Given the description of an element on the screen output the (x, y) to click on. 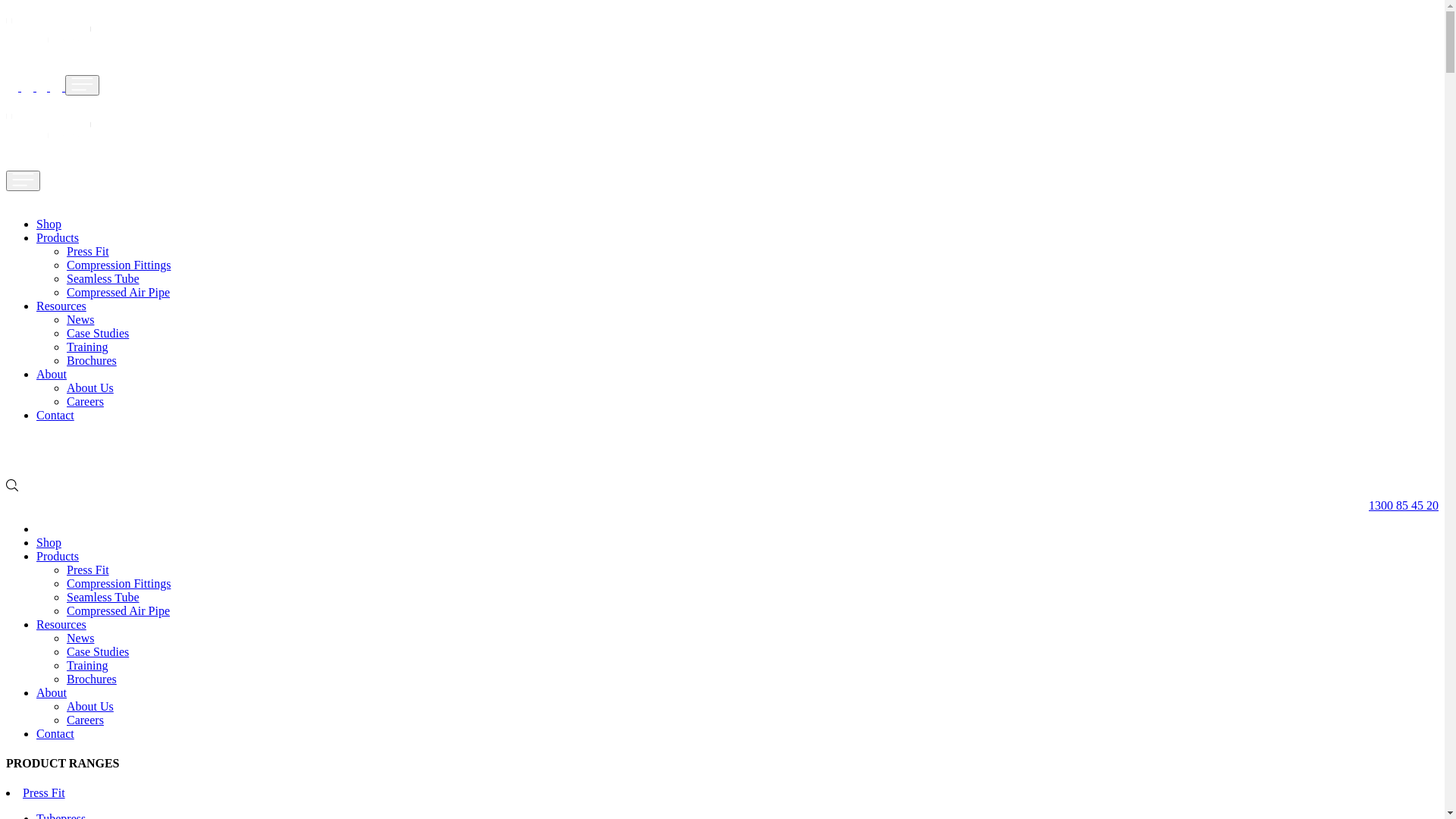
Contact Element type: text (55, 733)
Compressed Air Pipe Element type: text (117, 291)
About Us Element type: text (89, 387)
Seamless Tube Element type: text (102, 596)
View your shopping cart Element type: hover (12, 456)
Brochures Element type: text (91, 360)
About Us Element type: text (89, 705)
Careers Element type: text (84, 401)
Compression Fittings Element type: text (118, 583)
View your shopping cart Element type: hover (28, 86)
Seamless Tube Element type: text (102, 278)
News Element type: text (80, 319)
Training Element type: text (87, 346)
Case Studies Element type: text (97, 651)
Shop Element type: text (48, 542)
Shop Element type: text (48, 223)
About Element type: text (51, 373)
Brochures Element type: text (91, 678)
Skip to content Element type: text (5, 14)
Products Element type: text (57, 555)
Careers Element type: text (84, 719)
Ibex_WHITE Element type: hover (48, 130)
Press Fit Element type: text (87, 250)
About Element type: text (51, 692)
Press Fit Element type: text (43, 792)
Ibex_WHITE Element type: hover (48, 35)
Contact Element type: text (55, 414)
News Element type: text (80, 637)
1300 85 45 20 Element type: text (1395, 503)
Resources Element type: text (61, 624)
Case Studies Element type: text (97, 332)
Resources Element type: text (61, 305)
Products Element type: text (57, 237)
Training Element type: text (87, 664)
Compression Fittings Element type: text (118, 264)
Press Fit Element type: text (87, 569)
Compressed Air Pipe Element type: text (117, 610)
